Given the description of an element on the screen output the (x, y) to click on. 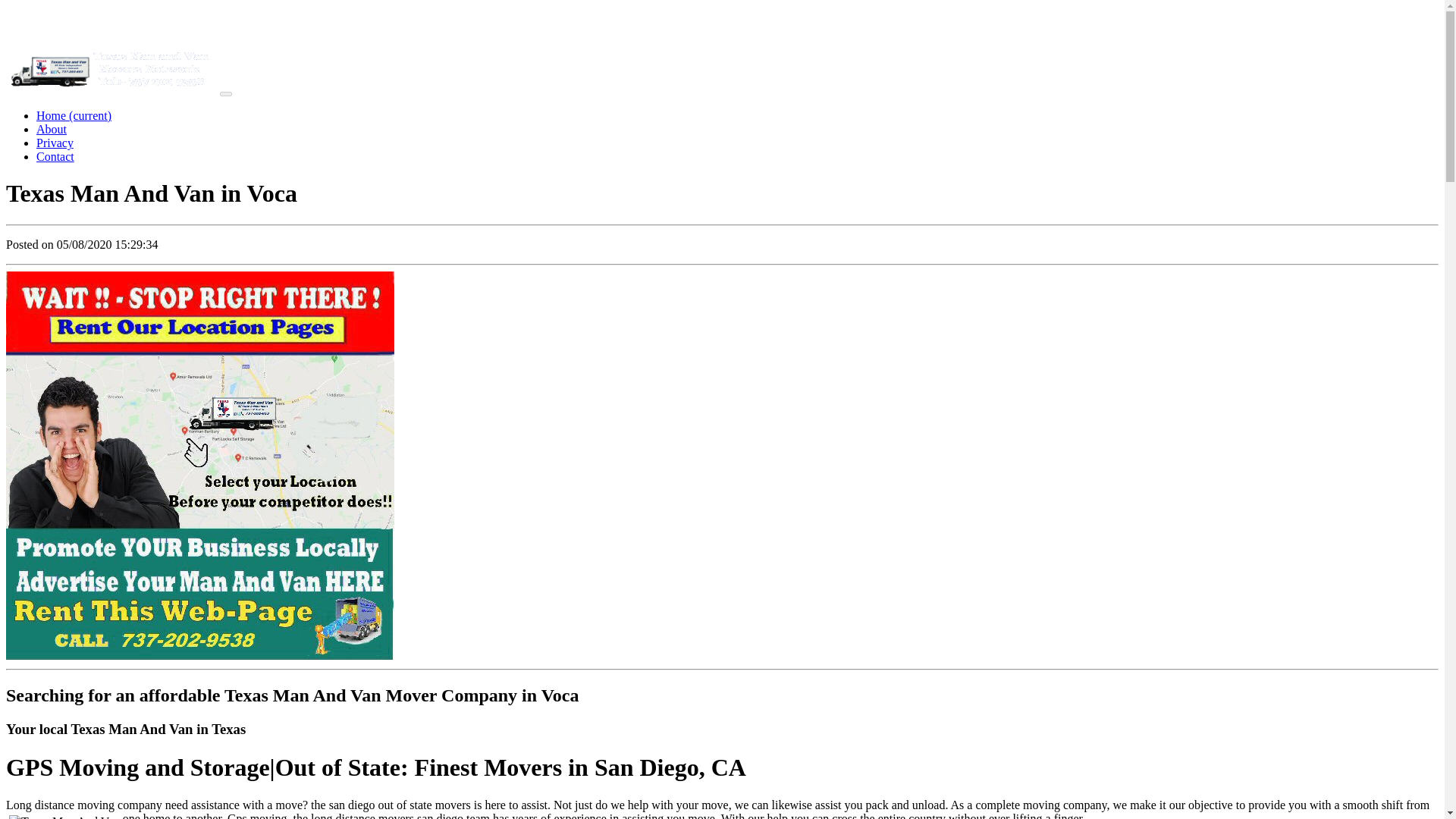
Contact (55, 155)
About (51, 128)
Privacy (55, 142)
